Given the description of an element on the screen output the (x, y) to click on. 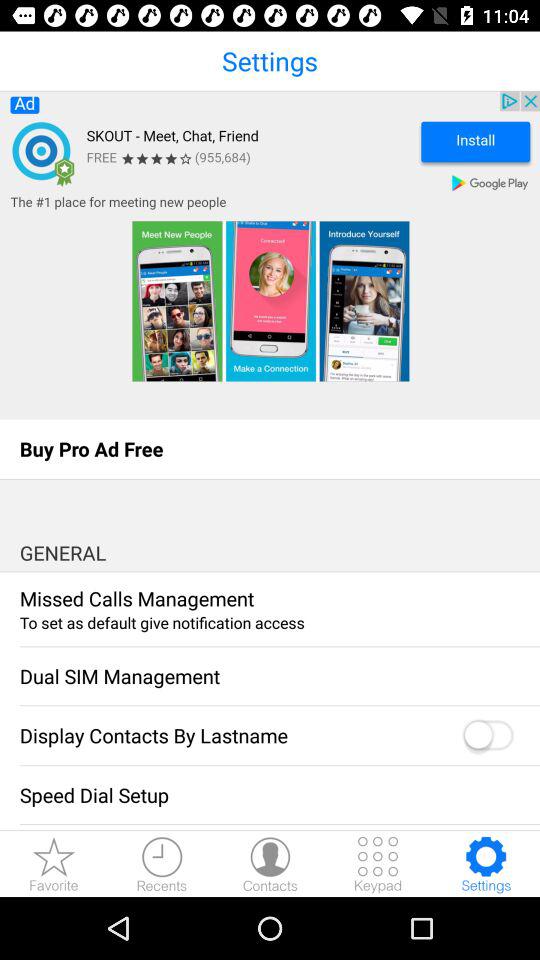
add to favorite (53, 864)
